Given the description of an element on the screen output the (x, y) to click on. 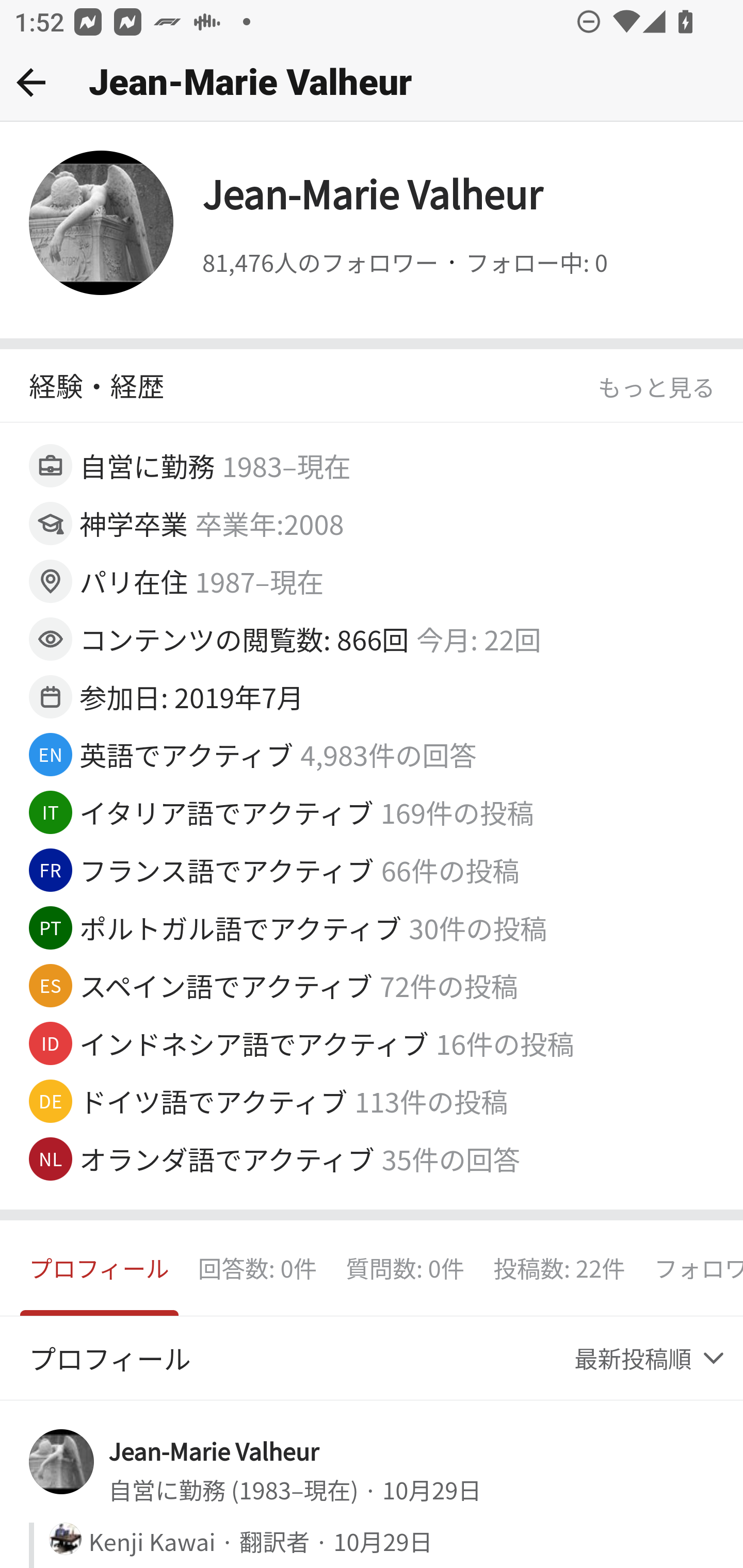
Back (30, 82)
81,476人のフォロワー (320, 262)
フォロー中: 0 (535, 262)
もっと見る (655, 386)
英語でアクティブ 英語 でアクティブ (186, 753)
イタリア語でアクティブ イタリア語 でアクティブ (226, 811)
フランス語でアクティブ フランス語 でアクティブ (227, 869)
ポルトガル語でアクティブ ポルトガル語 でアクティブ (240, 927)
スペイン語でアクティブ スペイン語 でアクティブ (226, 985)
インドネシア語でアクティブ インドネシア語 でアクティブ (254, 1043)
ドイツ語でアクティブ ドイツ語 でアクティブ (213, 1100)
オランダ語でアクティブ オランダ語 でアクティブ (227, 1158)
プロフィール (99, 1268)
回答数: 0件 (257, 1268)
質問数: 0件 (404, 1268)
投稿数: 22件 (559, 1268)
フォロワー数: 8.1万人 (690, 1268)
最新投稿順 (650, 1358)
Jean-Marie Valheurさんのプロフィール写真 (61, 1461)
Jean-Marie Valheur (213, 1449)
Kenji Kawaiさんのプロフィール写真 (64, 1539)
